Given the description of an element on the screen output the (x, y) to click on. 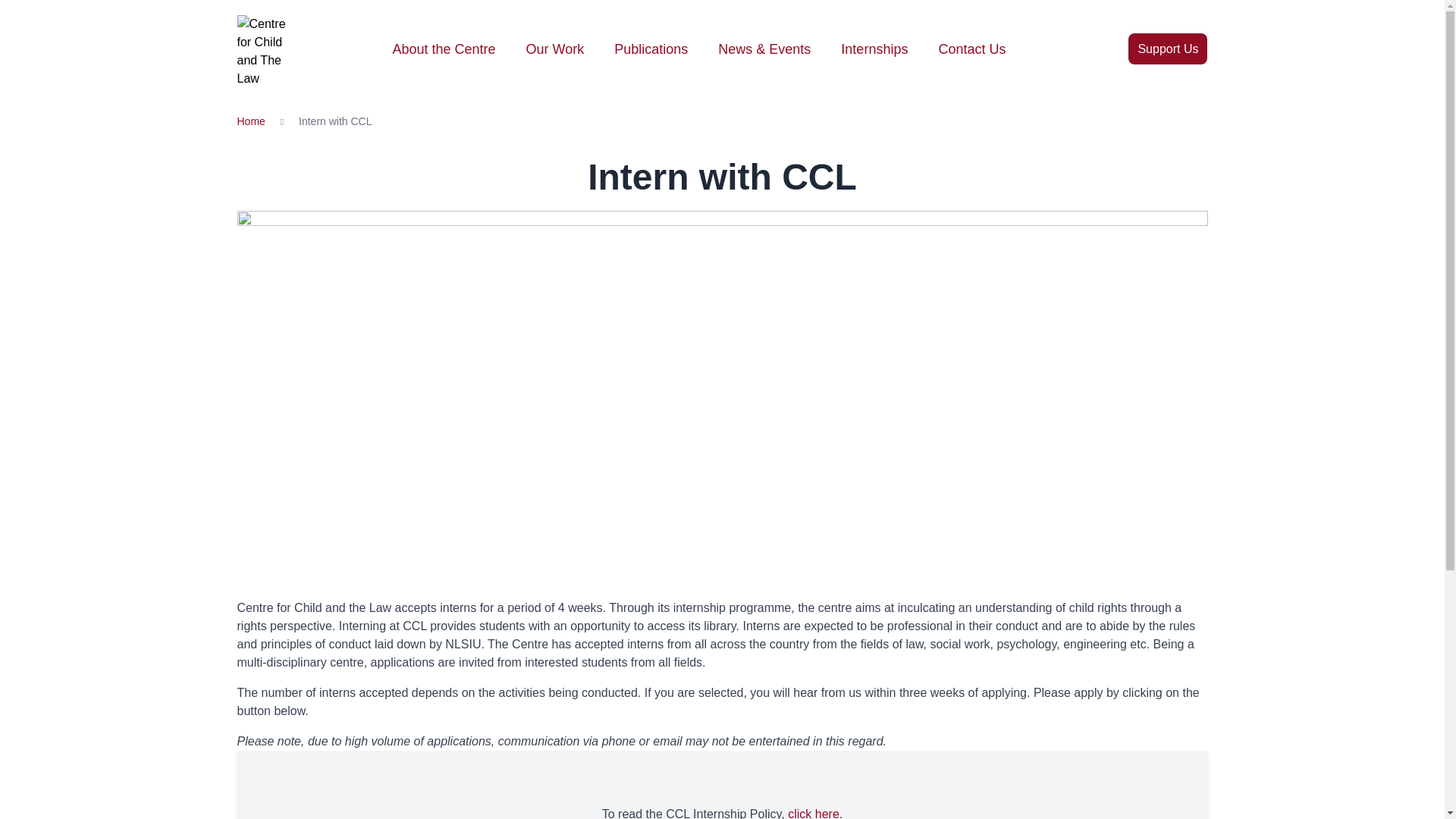
Our Work (555, 49)
Contact Us (971, 49)
About the Centre (443, 49)
Publications (650, 49)
click here (813, 813)
Home (249, 121)
Internships (874, 49)
Support Us (1167, 48)
